Given the description of an element on the screen output the (x, y) to click on. 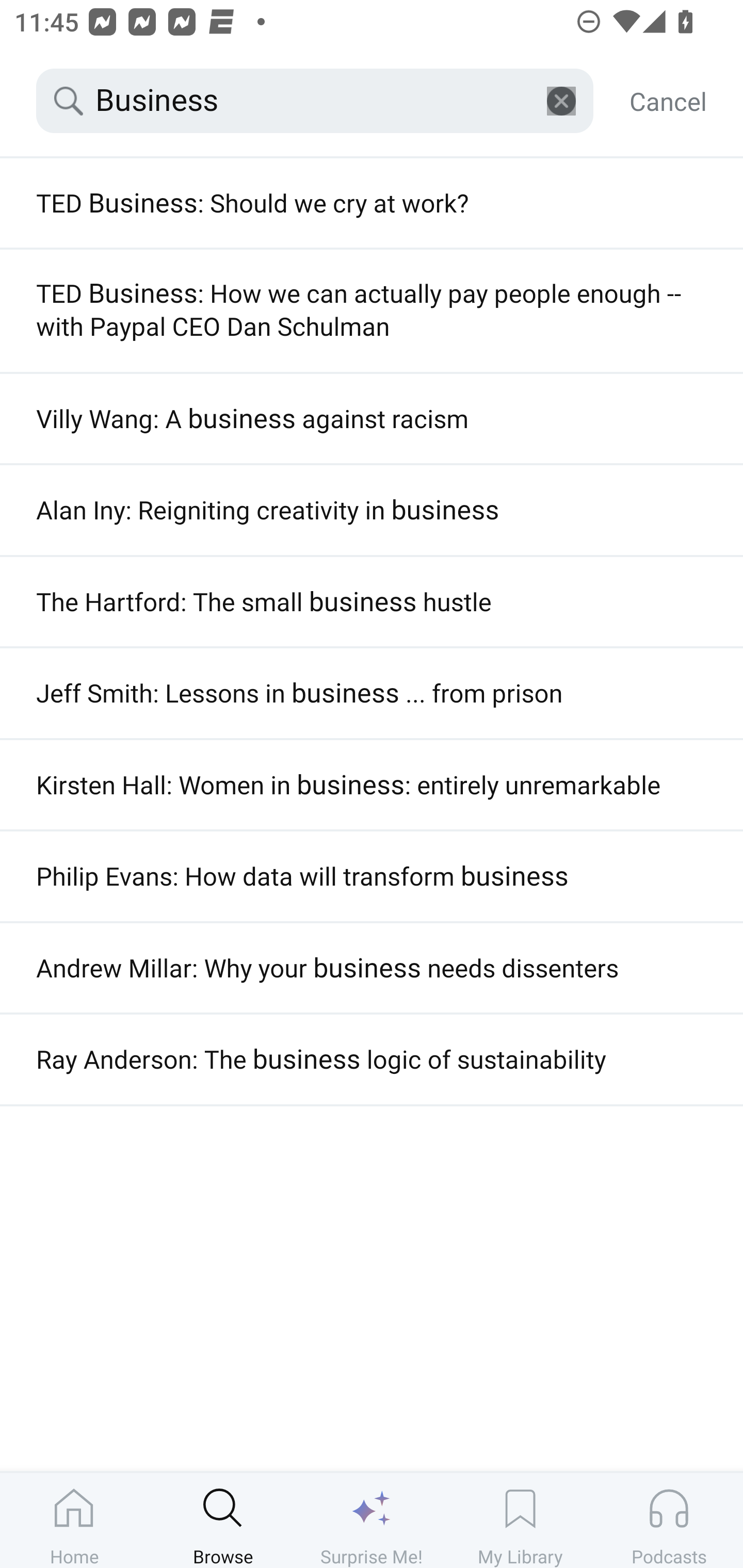
Business (314, 100)
Cancel (667, 100)
TED Business: Should we cry at work? (371, 202)
Villy Wang: A business against racism  (371, 418)
Alan Iny: Reigniting creativity in business (371, 510)
The Hartford: The small business hustle (371, 601)
Jeff Smith: Lessons in business ... from prison (371, 692)
Philip Evans: How data will transform business (371, 876)
Andrew Millar: Why your business needs dissenters (371, 967)
Ray Anderson: The business logic of sustainability (371, 1058)
Home (74, 1520)
Browse (222, 1520)
Surprise Me! (371, 1520)
My Library (519, 1520)
Podcasts (668, 1520)
